Given the description of an element on the screen output the (x, y) to click on. 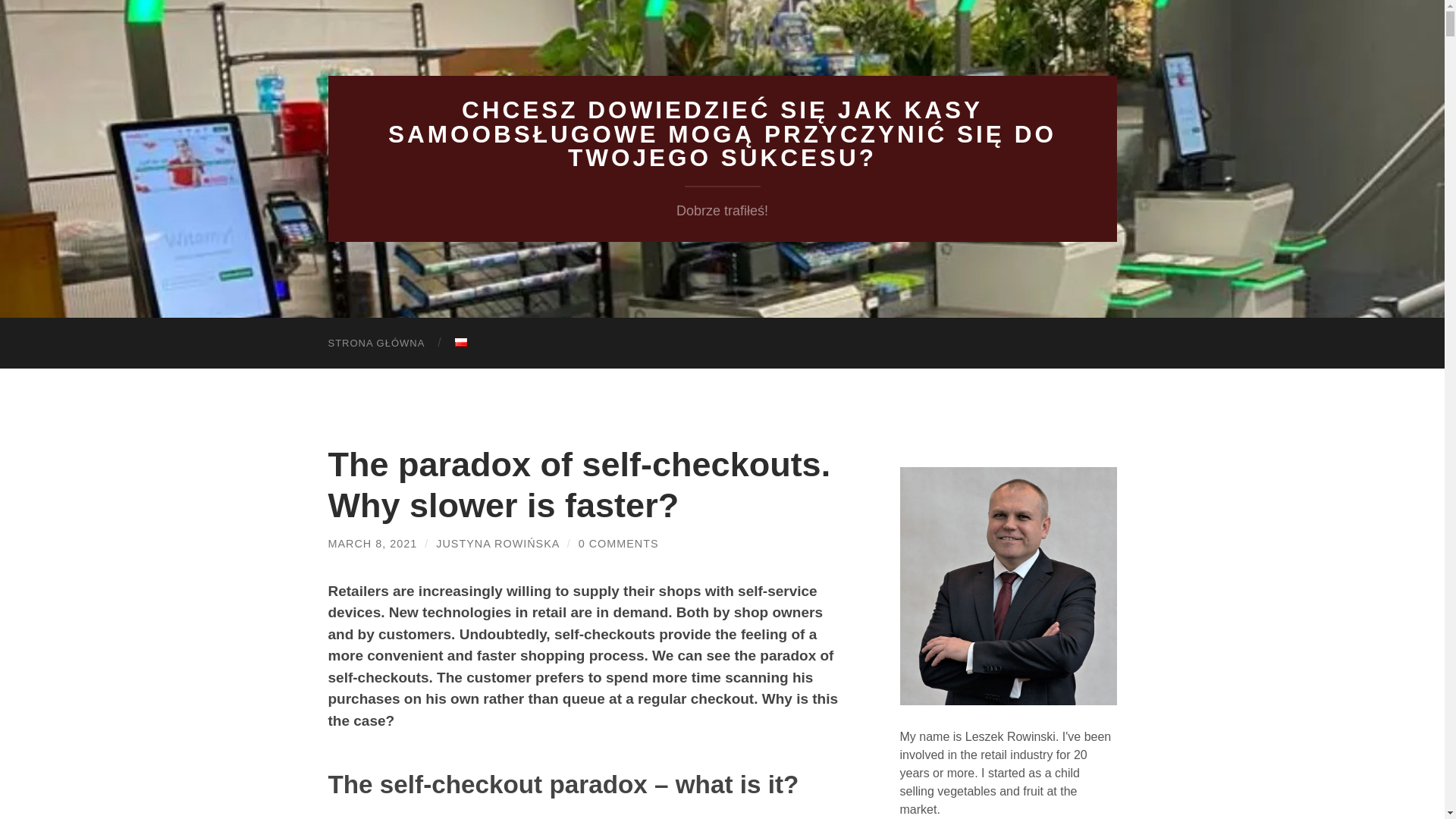
The paradox of self-checkouts. Why slower is faster? (578, 484)
MARCH 8, 2021 (371, 543)
0 COMMENTS (618, 543)
